Given the description of an element on the screen output the (x, y) to click on. 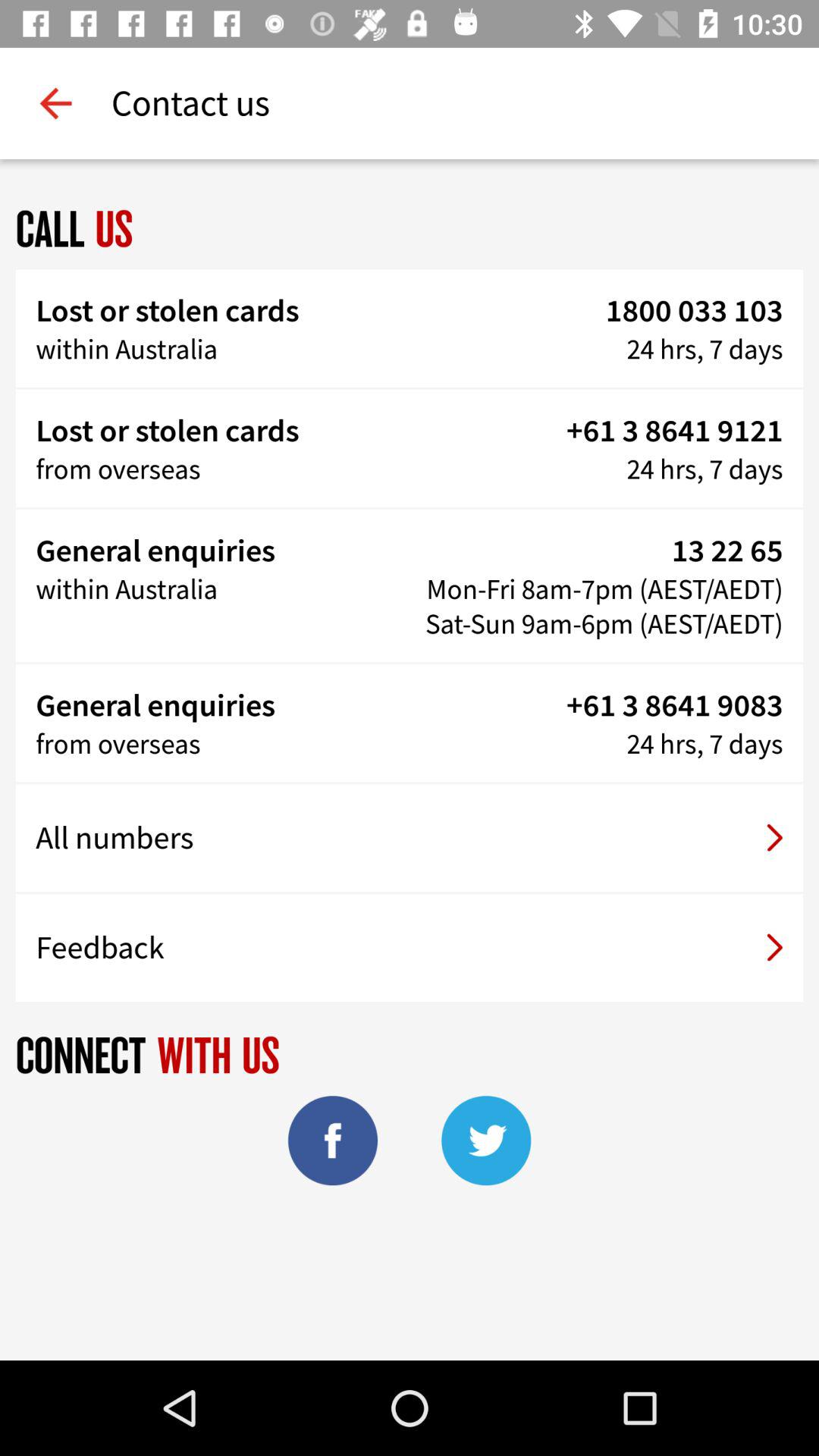
open the item above the feedback item (409, 837)
